Given the description of an element on the screen output the (x, y) to click on. 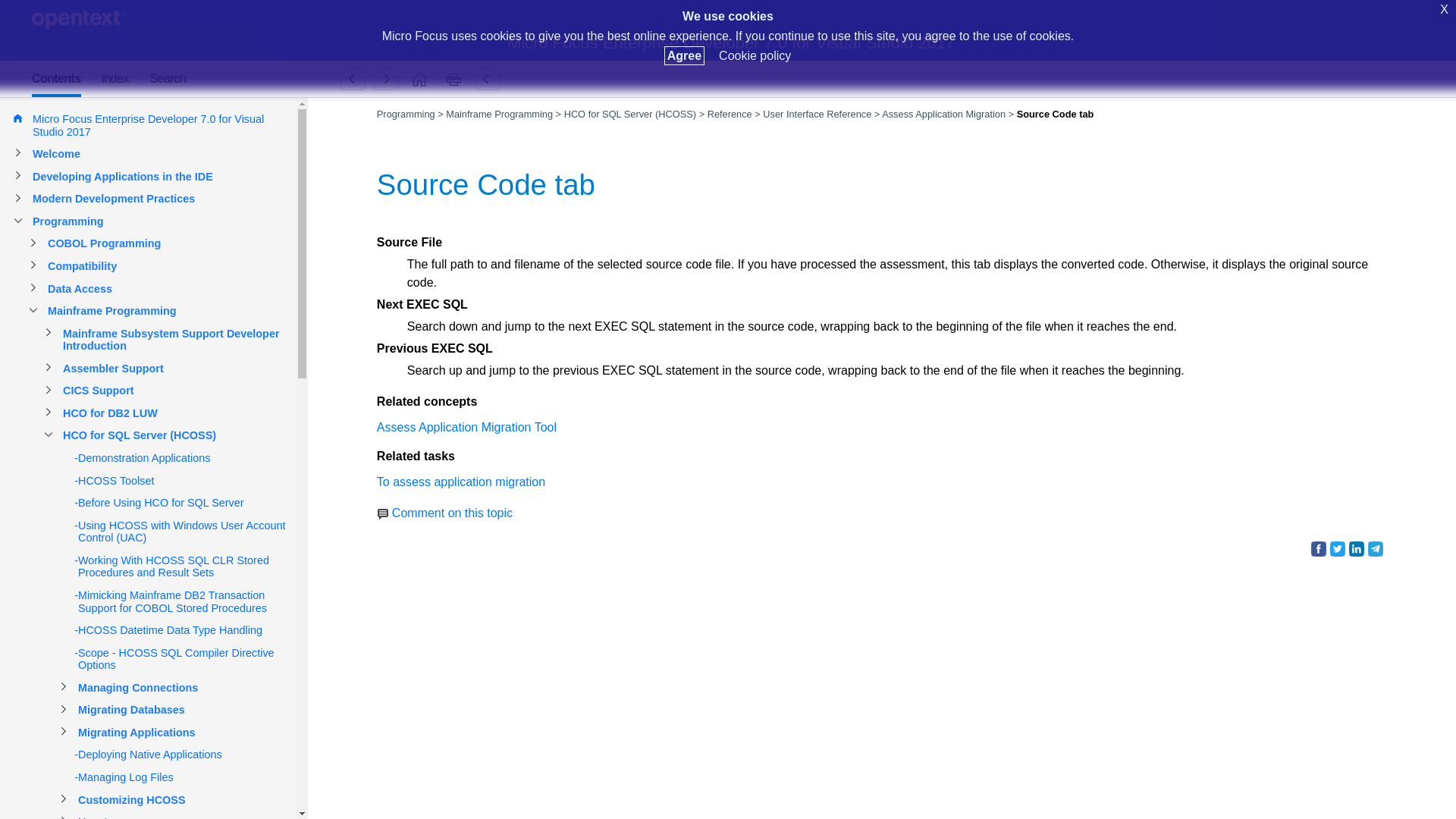
Results tab (386, 78)
Cookie policy (754, 55)
Agree (684, 55)
Create New Assessment Task dialog box (352, 78)
